Given the description of an element on the screen output the (x, y) to click on. 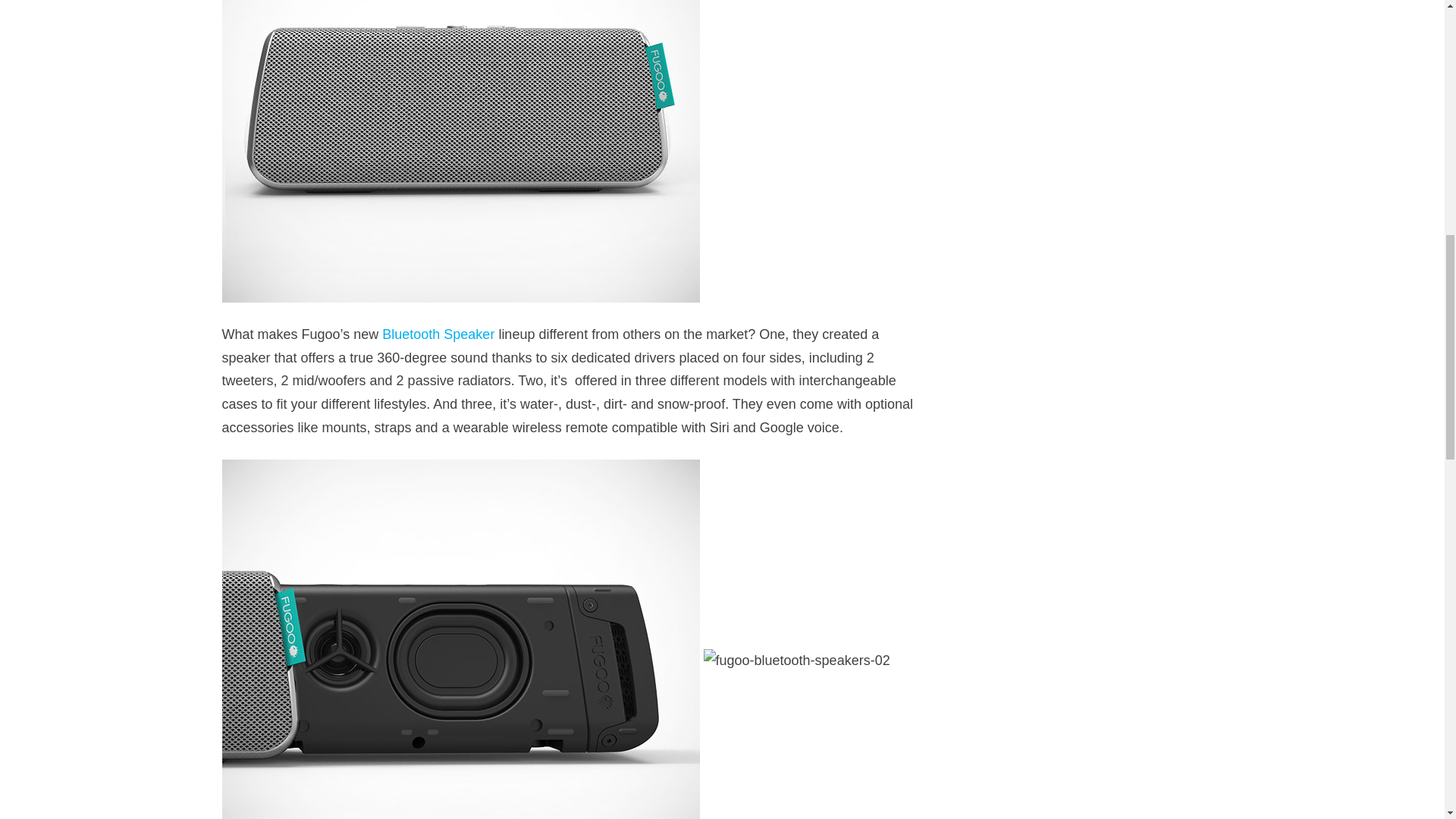
Bluetooth Speaker (438, 334)
